Given the description of an element on the screen output the (x, y) to click on. 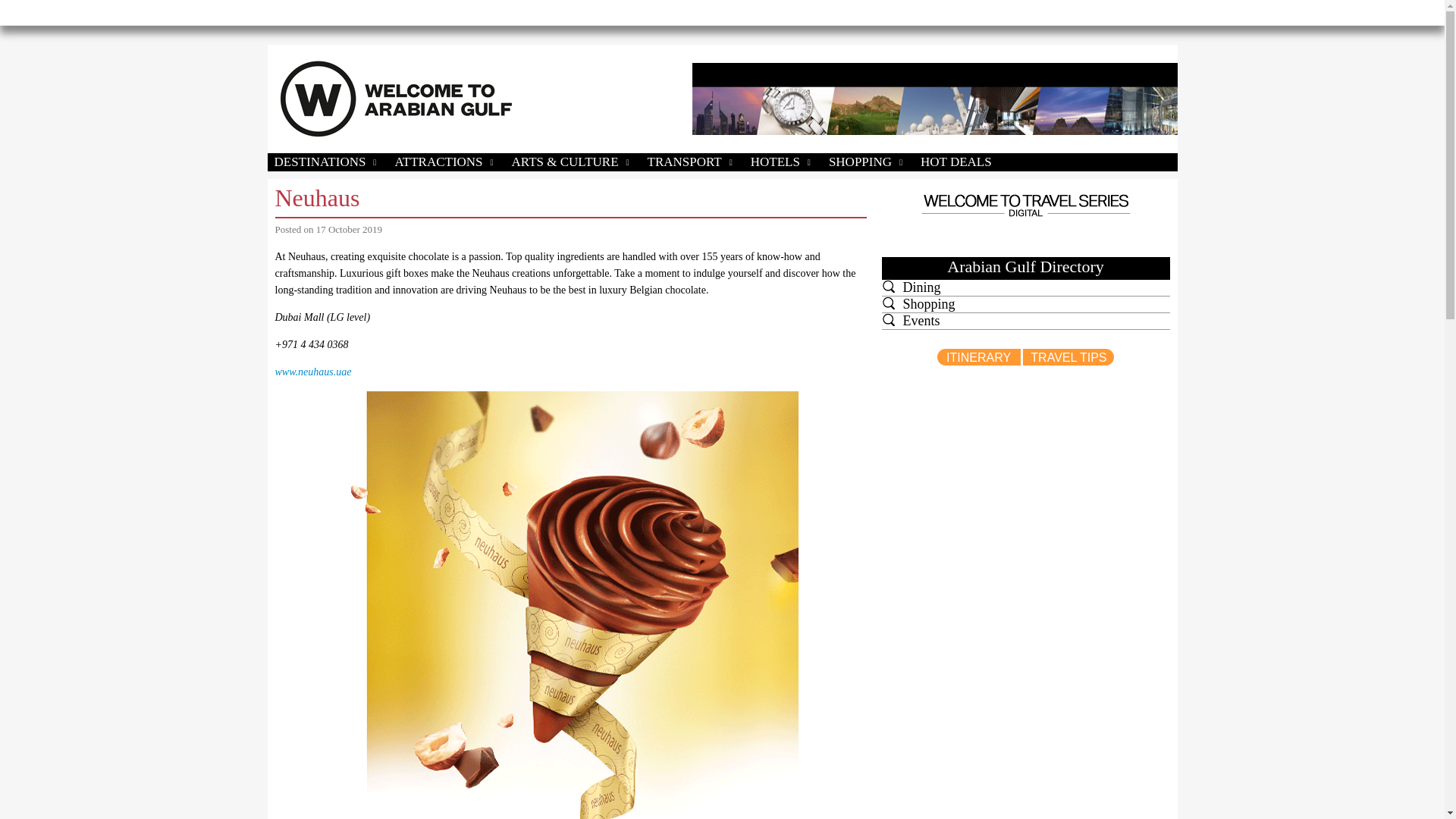
TRANSPORT (691, 162)
HOT DEALS (955, 162)
SHOPPING (866, 162)
HOTELS (781, 162)
DESTINATIONS (326, 162)
ATTRACTIONS (444, 162)
